Given the description of an element on the screen output the (x, y) to click on. 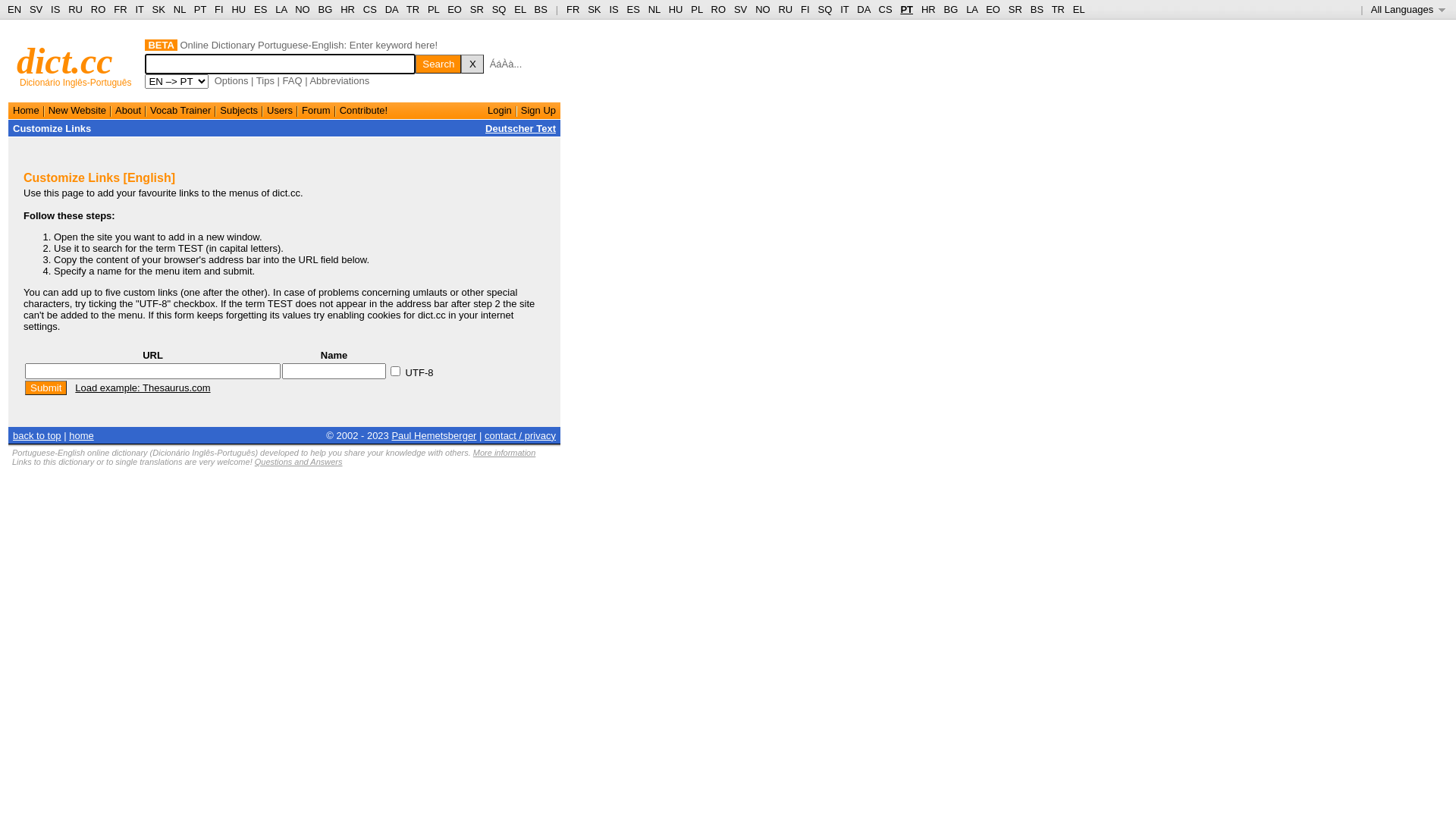
BG Element type: text (325, 9)
PL Element type: text (433, 9)
IS Element type: text (54, 9)
Subjects Element type: text (238, 110)
Submit Element type: text (45, 387)
SR Element type: text (476, 9)
contact / privacy Element type: text (519, 434)
All Languages  Element type: text (1408, 9)
TR Element type: text (1057, 9)
SV Element type: text (740, 9)
Vocab Trainer Element type: text (180, 110)
IT Element type: text (844, 9)
RO Element type: text (718, 9)
Deutscher Text Element type: text (520, 128)
Forum Element type: text (315, 110)
HR Element type: text (347, 9)
NL Element type: text (654, 9)
Paul Hemetsberger Element type: text (433, 434)
HU Element type: text (675, 9)
SK Element type: text (593, 9)
RU Element type: text (785, 9)
Tips Element type: text (265, 80)
PT Element type: text (200, 9)
LA Element type: text (280, 9)
RO Element type: text (98, 9)
ES Element type: text (633, 9)
NO Element type: text (762, 9)
EO Element type: text (992, 9)
BG Element type: text (950, 9)
Home Element type: text (25, 110)
SQ Element type: text (824, 9)
EL Element type: text (519, 9)
TR Element type: text (412, 9)
Abbreviations Element type: text (339, 80)
home Element type: text (81, 434)
Load example: Thesaurus.com Element type: text (142, 387)
DA Element type: text (862, 9)
SQ Element type: text (499, 9)
BS Element type: text (540, 9)
IS Element type: text (613, 9)
Contribute! Element type: text (363, 110)
SR Element type: text (1015, 9)
More information Element type: text (504, 452)
NL Element type: text (179, 9)
BS Element type: text (1036, 9)
FAQ Element type: text (292, 80)
HR Element type: text (928, 9)
SK Element type: text (158, 9)
Sign Up Element type: text (537, 110)
PT Element type: text (906, 9)
HU Element type: text (238, 9)
FR Element type: text (119, 9)
RU Element type: text (75, 9)
EN Element type: text (14, 9)
SV Element type: text (35, 9)
Login Element type: text (499, 110)
Options Element type: text (231, 80)
Search Element type: text (438, 63)
DA Element type: text (391, 9)
EL Element type: text (1079, 9)
Users Element type: text (279, 110)
PL Element type: text (696, 9)
Questions and Answers Element type: text (298, 461)
NO Element type: text (302, 9)
CS Element type: text (369, 9)
X Element type: text (472, 63)
LA Element type: text (971, 9)
FI Element type: text (218, 9)
About Element type: text (128, 110)
back to top Element type: text (36, 434)
FI Element type: text (804, 9)
EO Element type: text (454, 9)
ES Element type: text (260, 9)
CS Element type: text (884, 9)
New Website Element type: text (77, 110)
IT Element type: text (138, 9)
dict.cc Element type: text (64, 60)
FR Element type: text (572, 9)
